Given the description of an element on the screen output the (x, y) to click on. 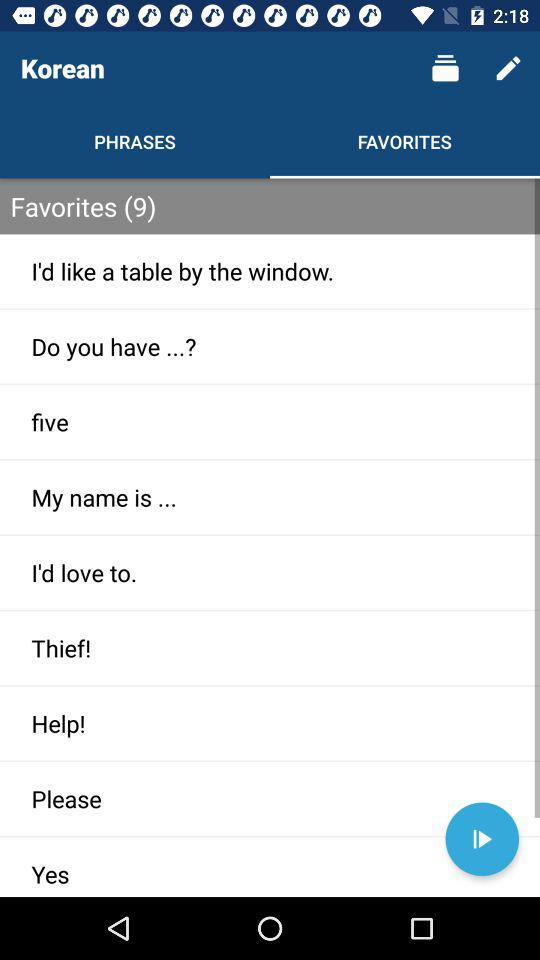
toggle to play option (482, 839)
